Given the description of an element on the screen output the (x, y) to click on. 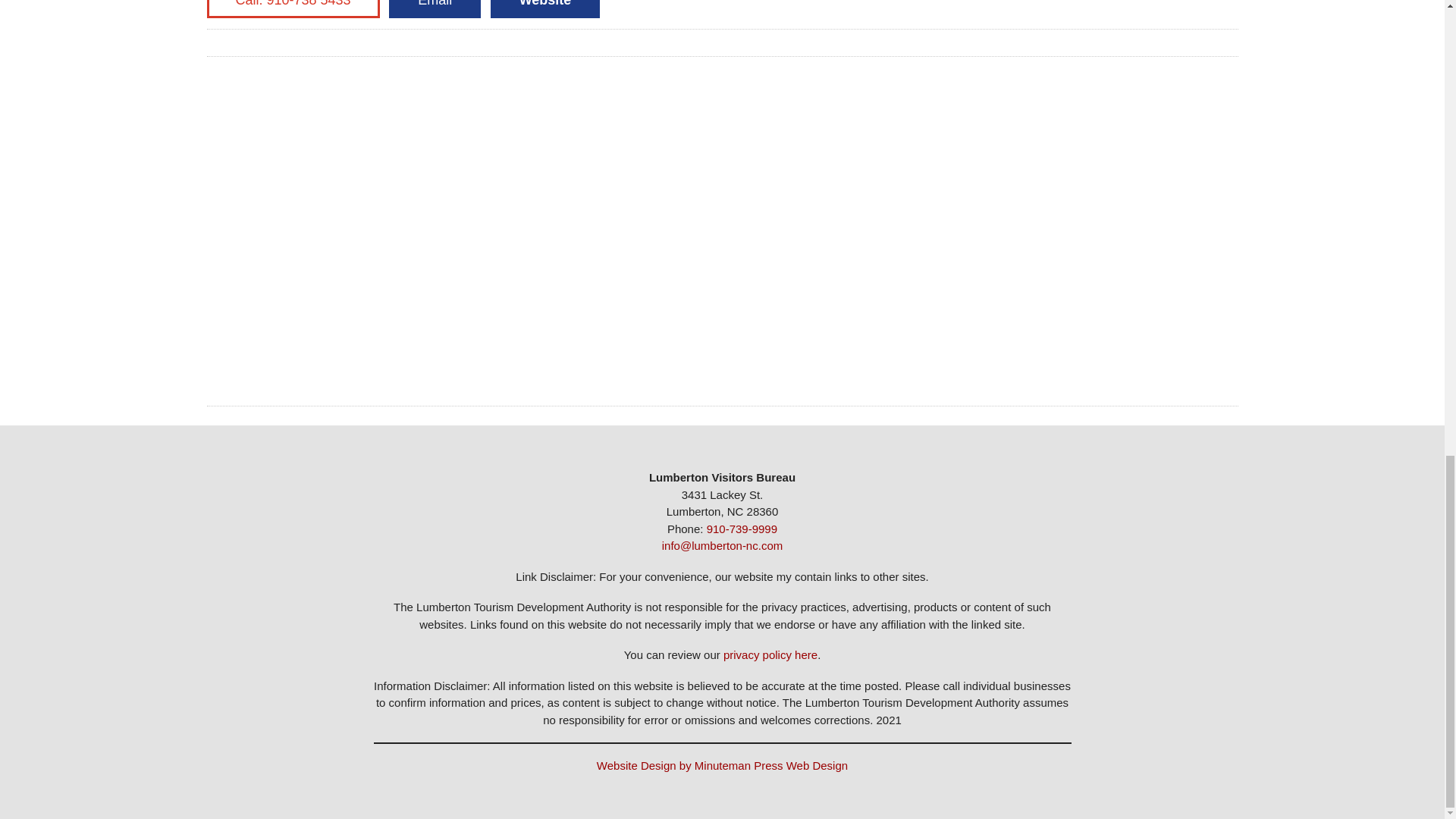
Call: 910-738 5433 (292, 9)
